Given the description of an element on the screen output the (x, y) to click on. 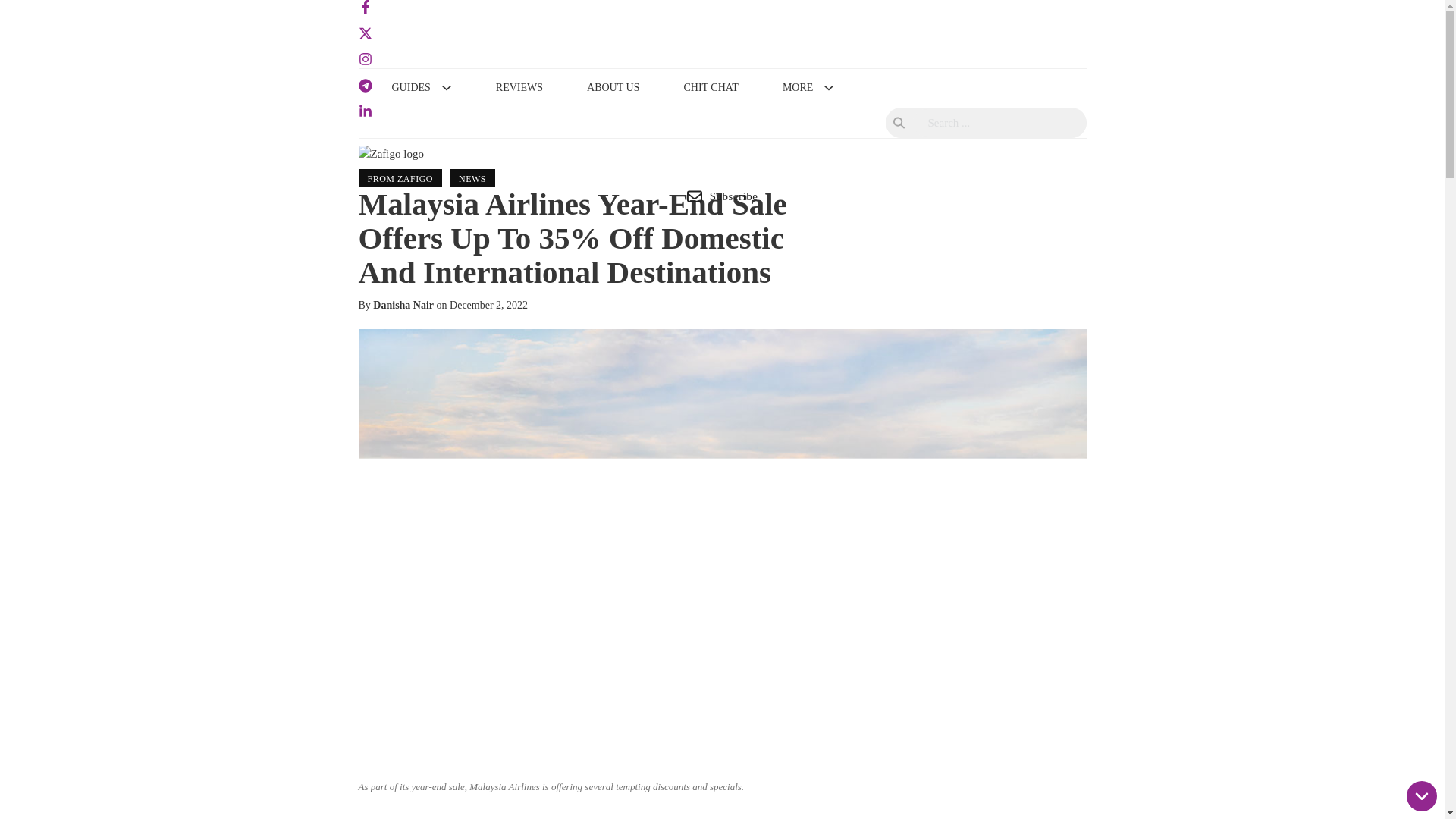
Subscribe (722, 196)
REVIEWS (518, 87)
MORE (797, 87)
ABOUT US (612, 87)
GUIDES (410, 87)
CHIT CHAT (710, 87)
Posts by Danisha Nair (402, 305)
